Given the description of an element on the screen output the (x, y) to click on. 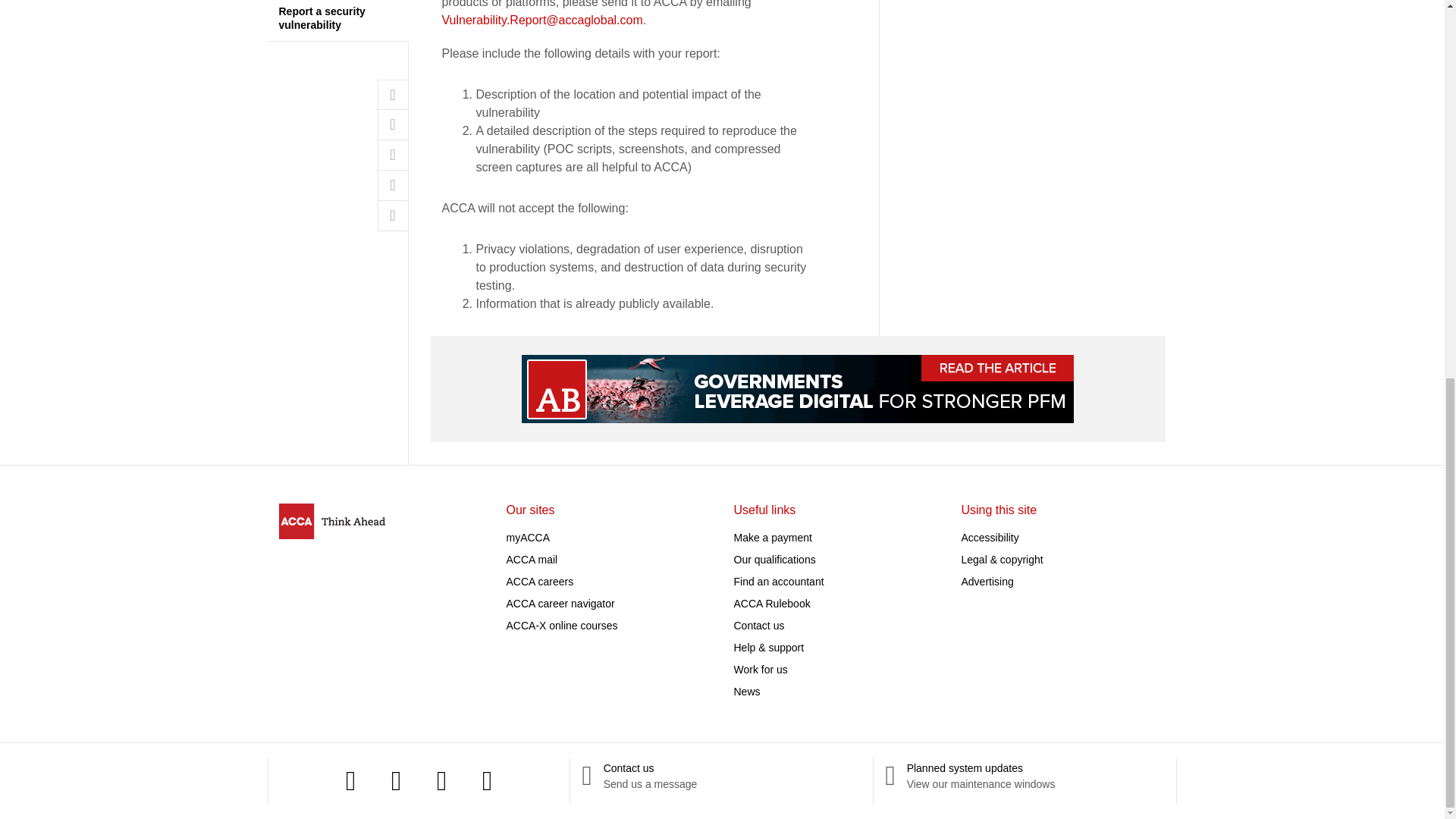
myACCA (528, 536)
Find an accountant (778, 580)
Work for us (760, 668)
ACCA mail (531, 559)
News (746, 691)
ACCA career navigator (560, 603)
Contact us (758, 624)
Our qualifications (774, 559)
Make a payment (772, 536)
ACCA careers (539, 580)
ACCA-X online courses (561, 624)
ACCA Rulebook (771, 603)
Accessibility (989, 536)
